Given the description of an element on the screen output the (x, y) to click on. 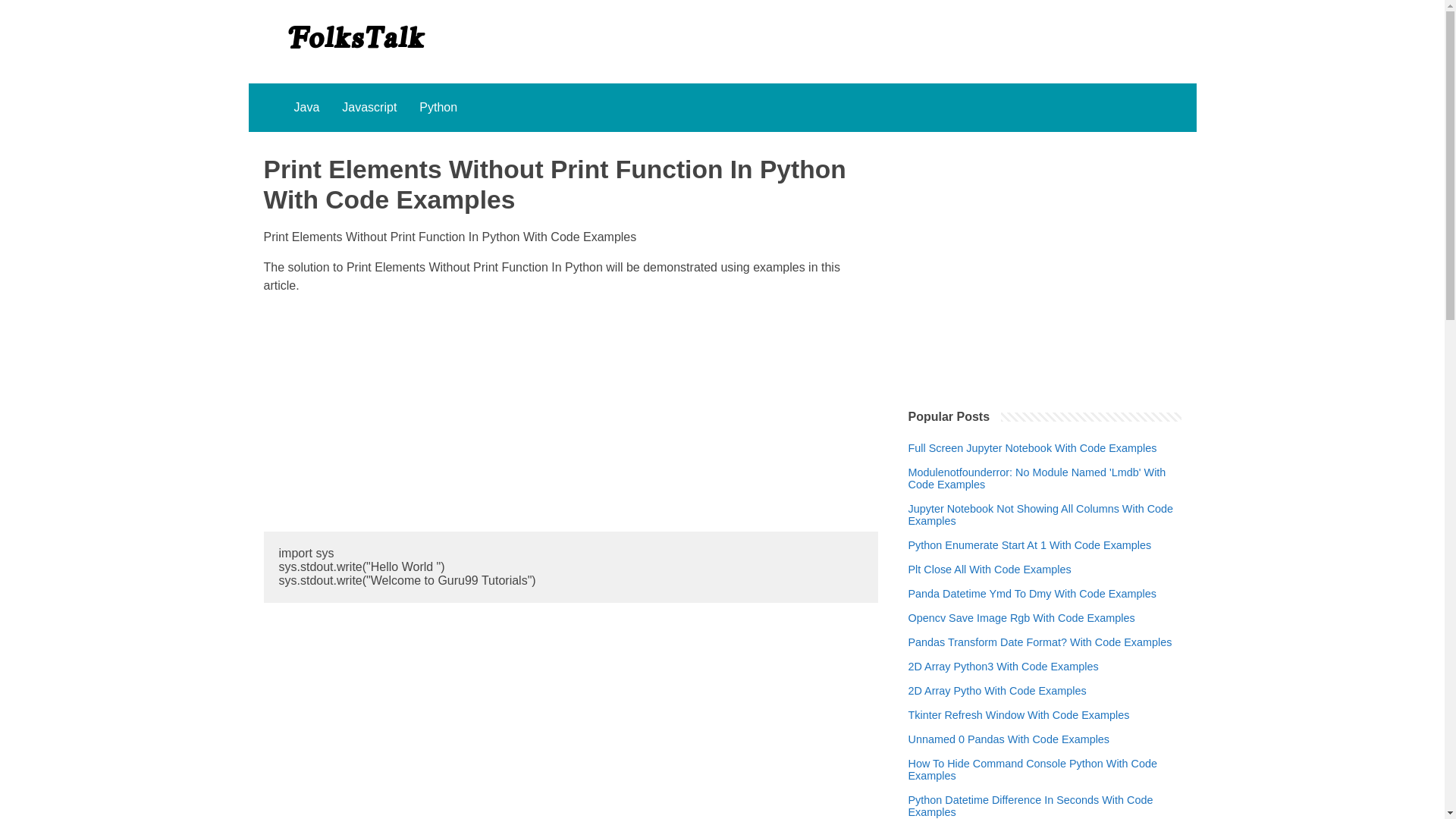
Full Screen Jupyter Notebook With Code Examples (1032, 463)
Opencv Save Image Rgb With Code Examples (1021, 633)
Python (438, 107)
Pandas Transform Date Format? With Code Examples (1040, 657)
2D Array Pytho With Code Examples (997, 705)
Unnamed 0 Pandas With Code Examples (1008, 754)
Panda Datetime Ymd To Dmy With Code Examples (1032, 608)
Jupyter Notebook Not Showing All Columns With Code Examples (1044, 529)
Python Enumerate Start At 1 With Code Examples (1029, 560)
Python Datetime Difference In Seconds With Code Examples (1044, 814)
Plt Close All With Code Examples (989, 584)
2D Array Python3 With Code Examples (1003, 681)
How To Hide Command Console Python With Code Examples (1044, 784)
Javascript (369, 107)
